Given the description of an element on the screen output the (x, y) to click on. 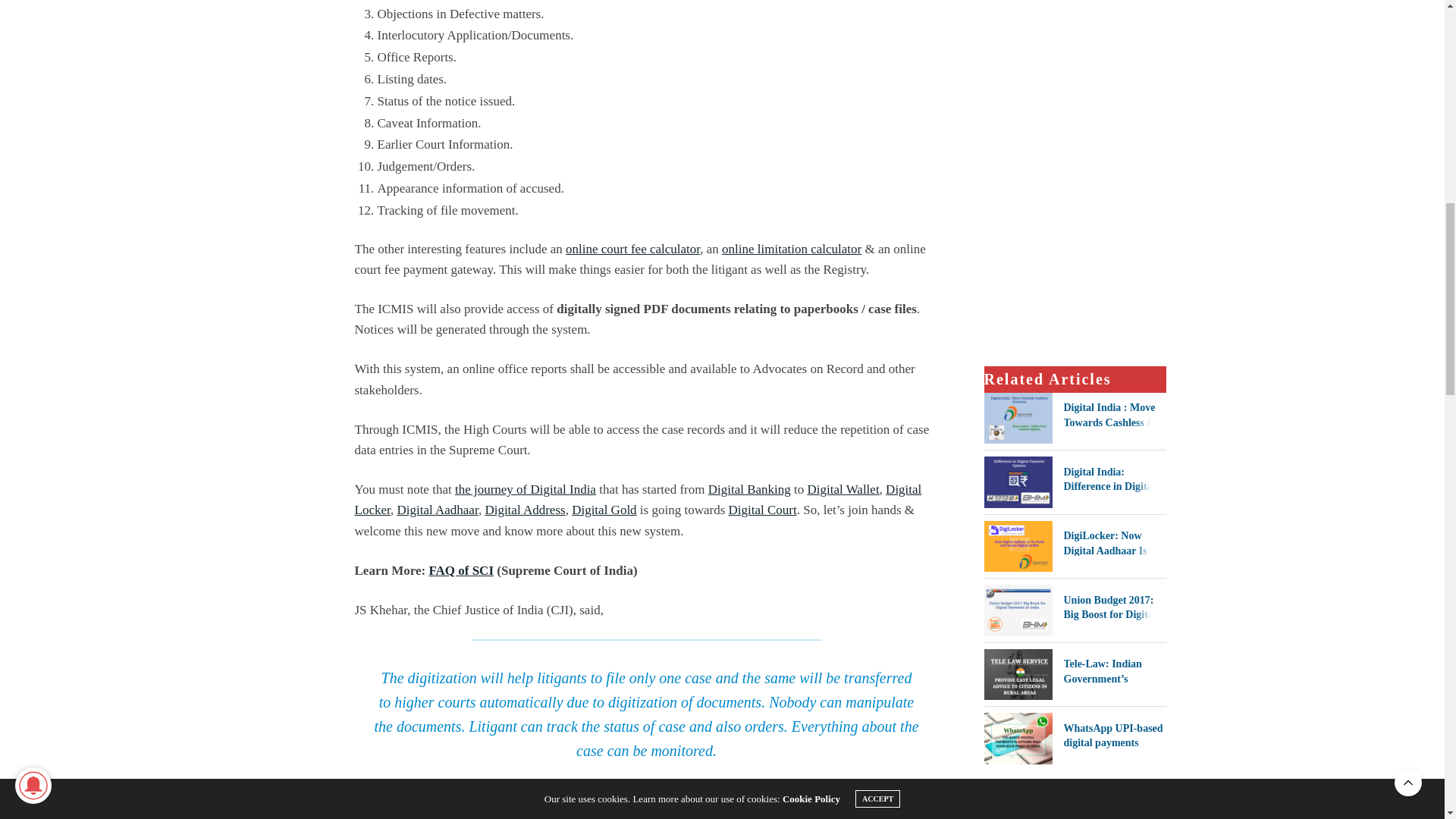
Digital India (524, 489)
Online court fee calculator (633, 248)
online limitation calculator  (791, 248)
online limitation calculator (791, 248)
online court fee calculator (633, 248)
